Given the description of an element on the screen output the (x, y) to click on. 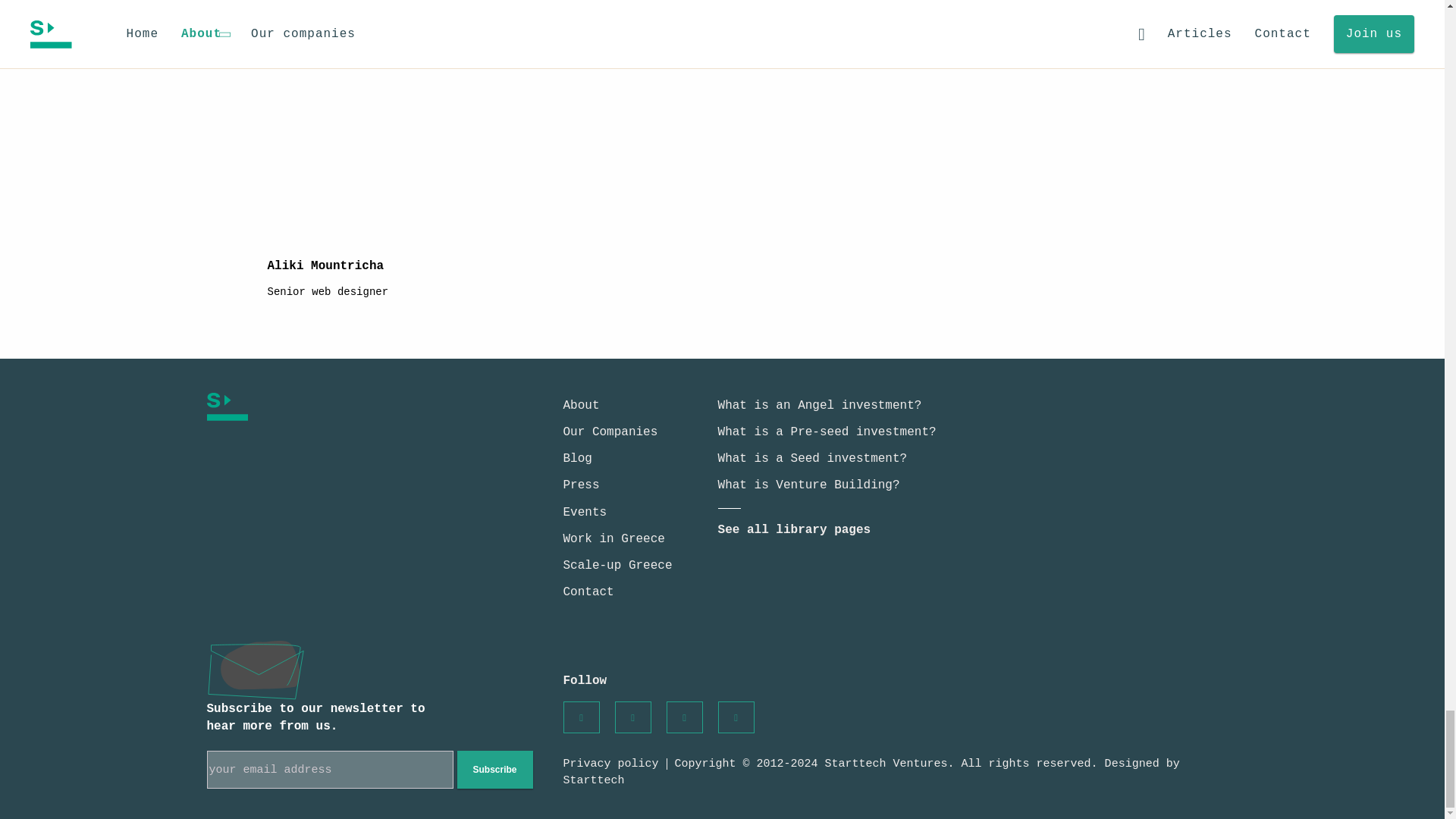
Blog (576, 459)
Press (580, 485)
Events (584, 512)
Subscribe (494, 769)
See all library pages (793, 530)
Our Companies (610, 431)
About (580, 405)
Scale-up Greece (616, 565)
What is a Pre-seed investment? (826, 431)
Contact (587, 591)
